Given the description of an element on the screen output the (x, y) to click on. 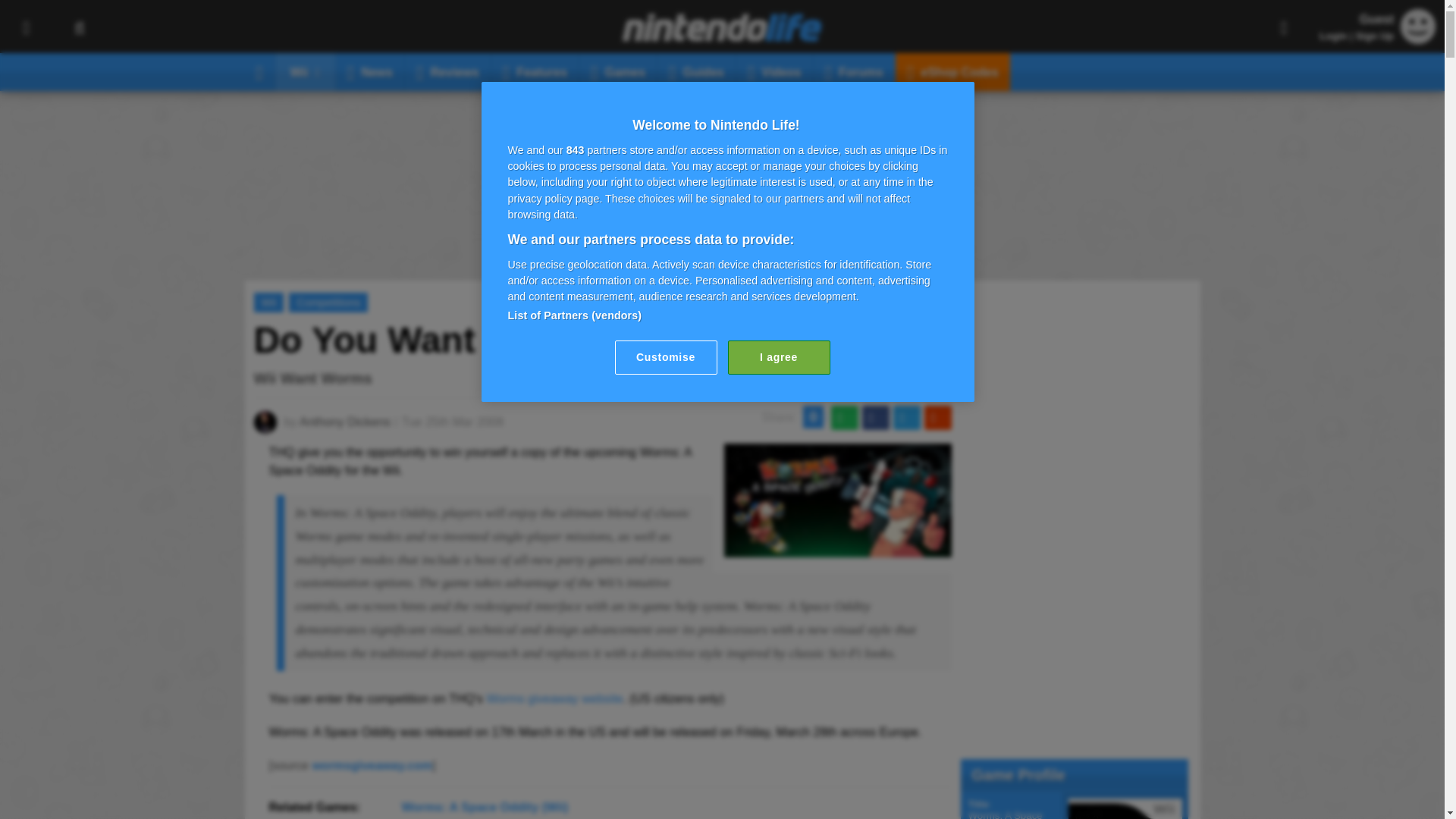
Topics (26, 26)
Sign Up (1374, 35)
Wii (305, 71)
SI Wii WormsASpaceOddity EnGB Image1600w (836, 547)
Competitions (328, 302)
Guides (697, 71)
Games (618, 71)
Reviews (448, 71)
Wii (268, 302)
Share this on Reddit (936, 417)
